Given the description of an element on the screen output the (x, y) to click on. 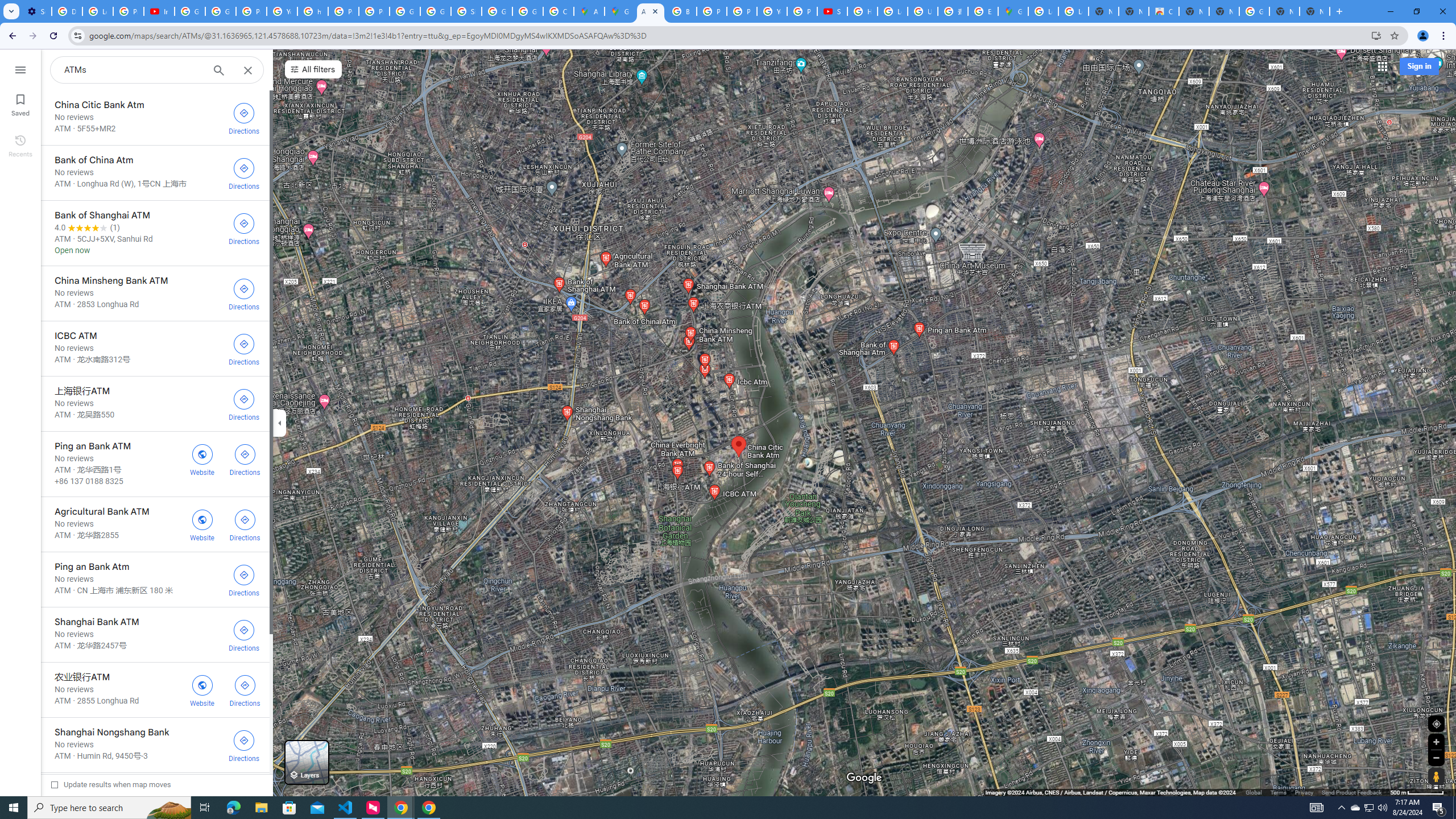
Ping an Bank ATM (154, 463)
Install Google Maps (1376, 35)
New Tab (1314, 11)
Get directions to Agricultural Bank ATM (245, 524)
Google Maps (619, 11)
Menu (20, 68)
Settings - Customize profile (36, 11)
ICBC ATM (154, 348)
Get directions to Ping an Bank ATM (245, 458)
Shanghai Bank ATM (154, 634)
